Given the description of an element on the screen output the (x, y) to click on. 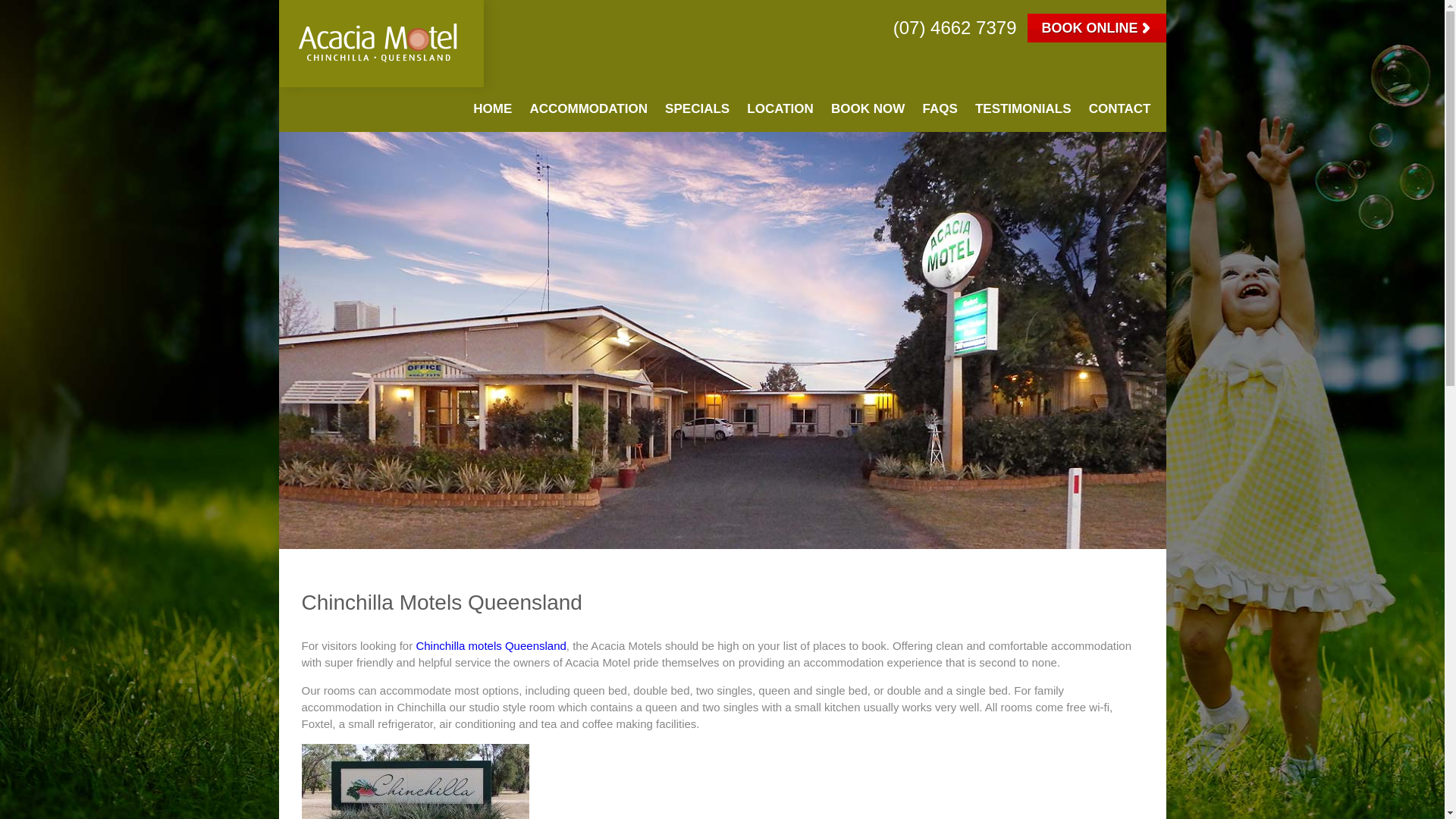
Chinchilla motels Queensland (490, 645)
FAQS (938, 115)
ACCOMMODATION (588, 115)
LOCATION (779, 115)
CONTACT (1120, 115)
HOME (492, 115)
BOOK ONLINE (1096, 27)
BOOK NOW (867, 115)
TESTIMONIALS (1023, 115)
SPECIALS (697, 115)
